Given the description of an element on the screen output the (x, y) to click on. 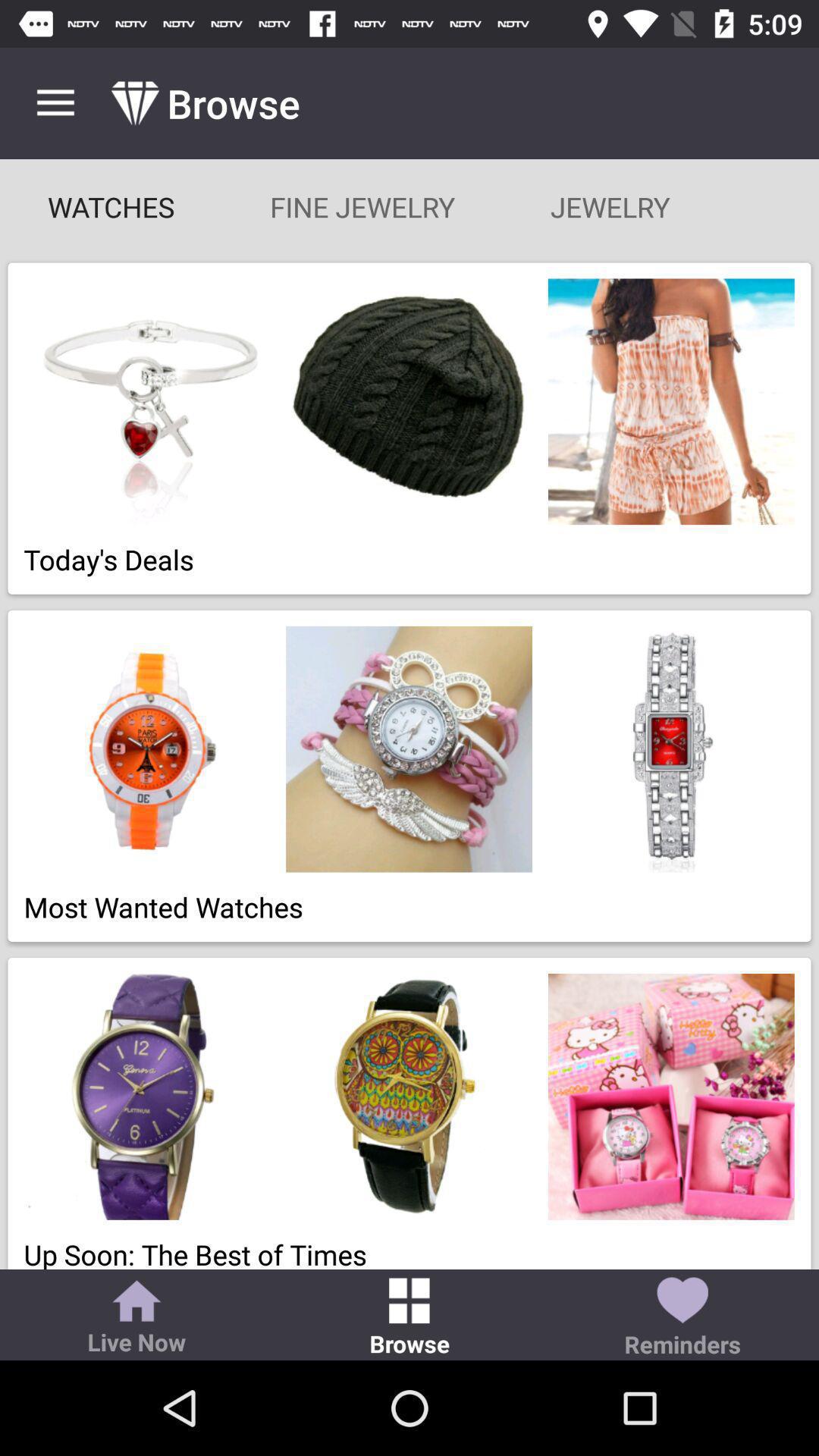
choose icon below up soon the item (136, 1318)
